Given the description of an element on the screen output the (x, y) to click on. 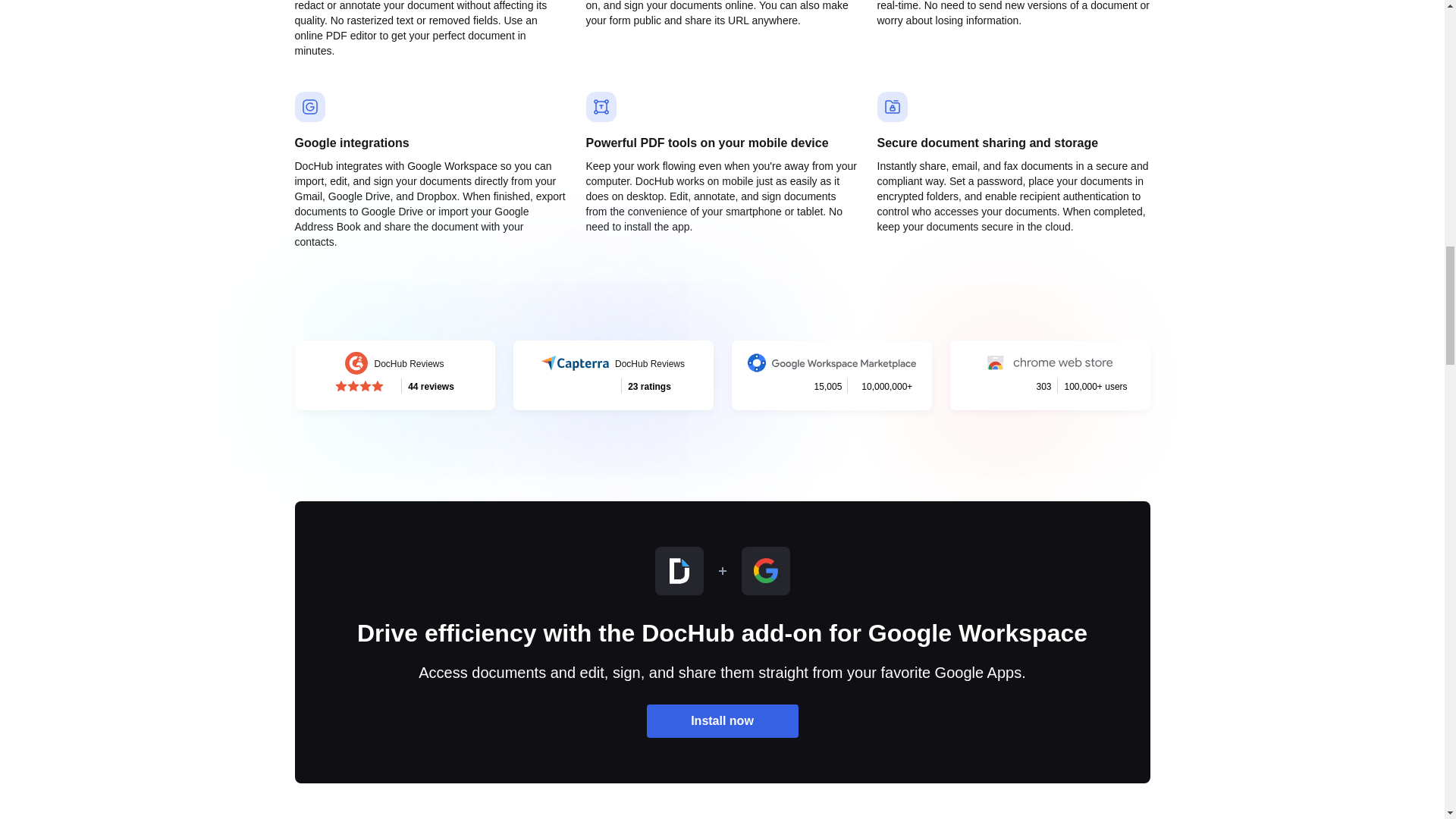
Install now (612, 375)
